Given the description of an element on the screen output the (x, y) to click on. 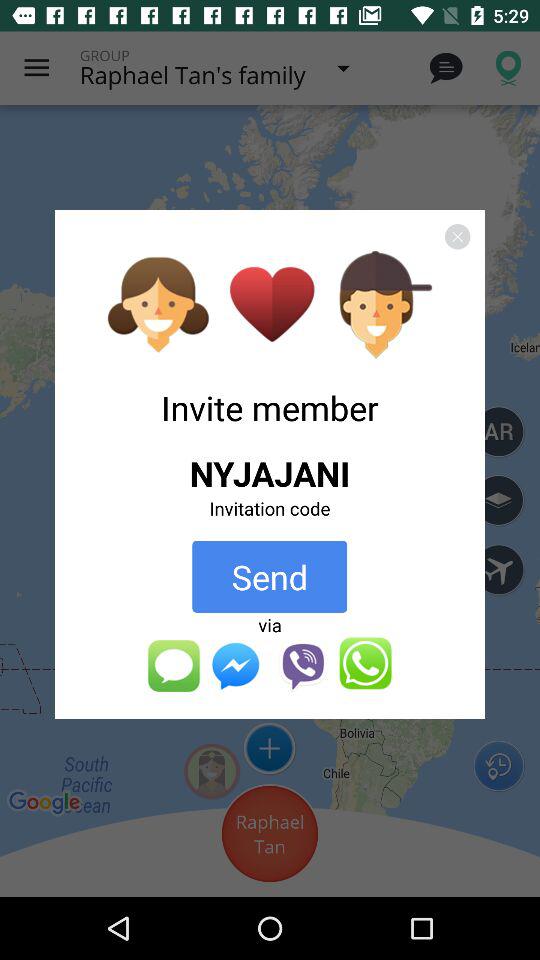
close this popup (457, 236)
